Given the description of an element on the screen output the (x, y) to click on. 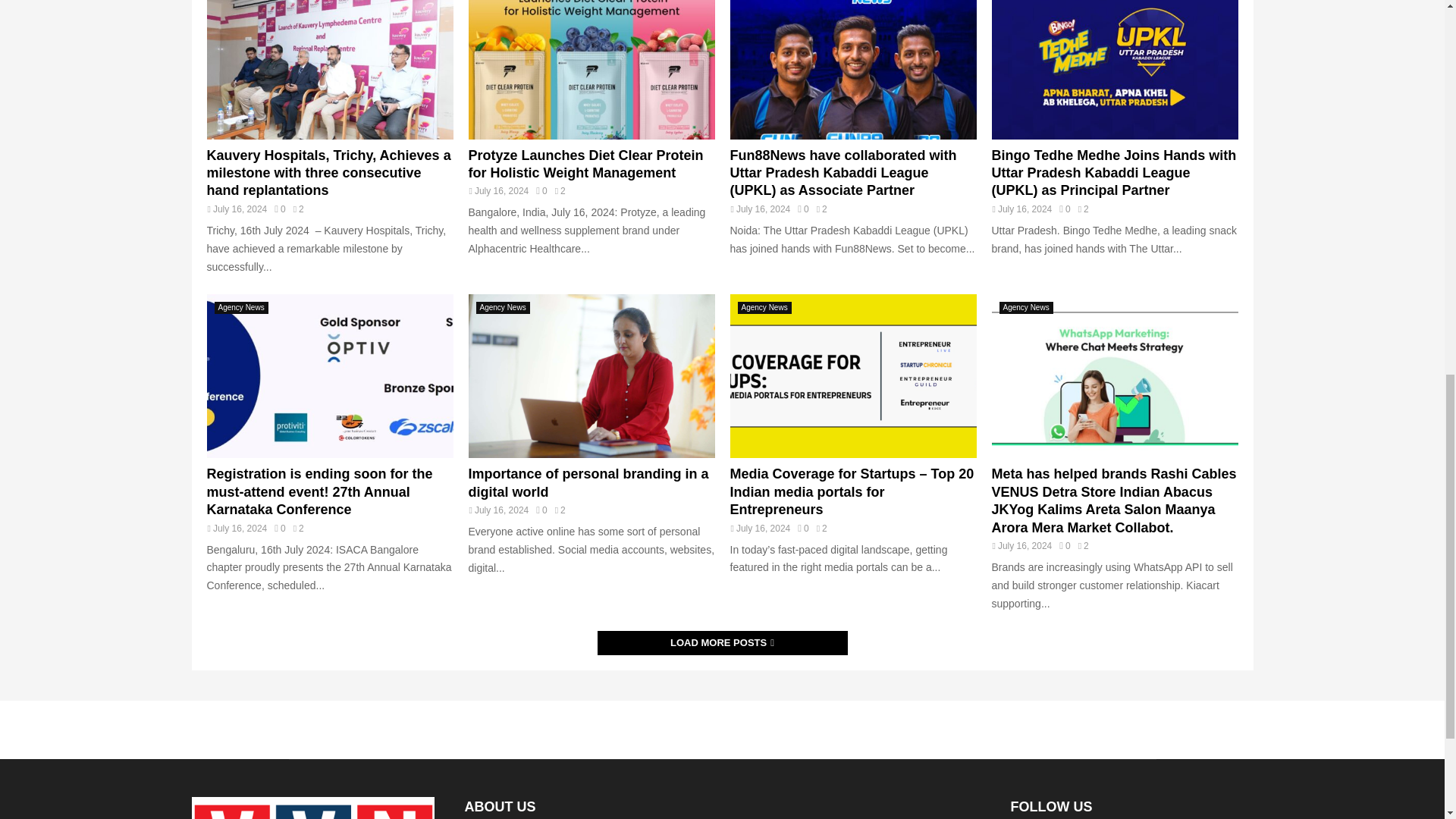
0 (541, 190)
0 (802, 208)
0 (280, 528)
0 (280, 208)
0 (1064, 208)
Agency News (240, 307)
